Given the description of an element on the screen output the (x, y) to click on. 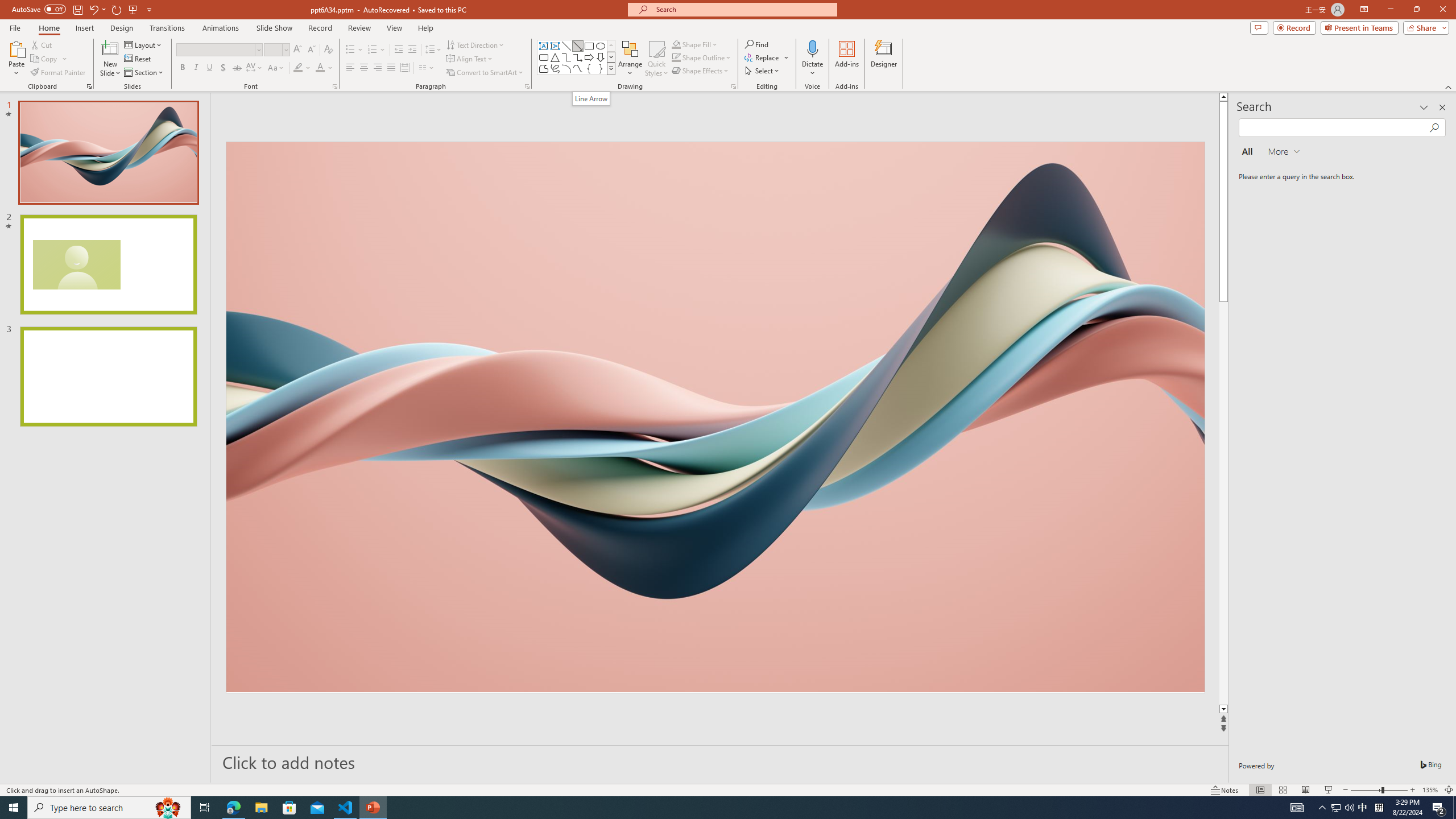
Page down (1223, 503)
Bullets (354, 49)
Line Arrow (591, 98)
Replace... (762, 56)
Dictate (812, 58)
Right Brace (600, 68)
Shape Outline (701, 56)
